Given the description of an element on the screen output the (x, y) to click on. 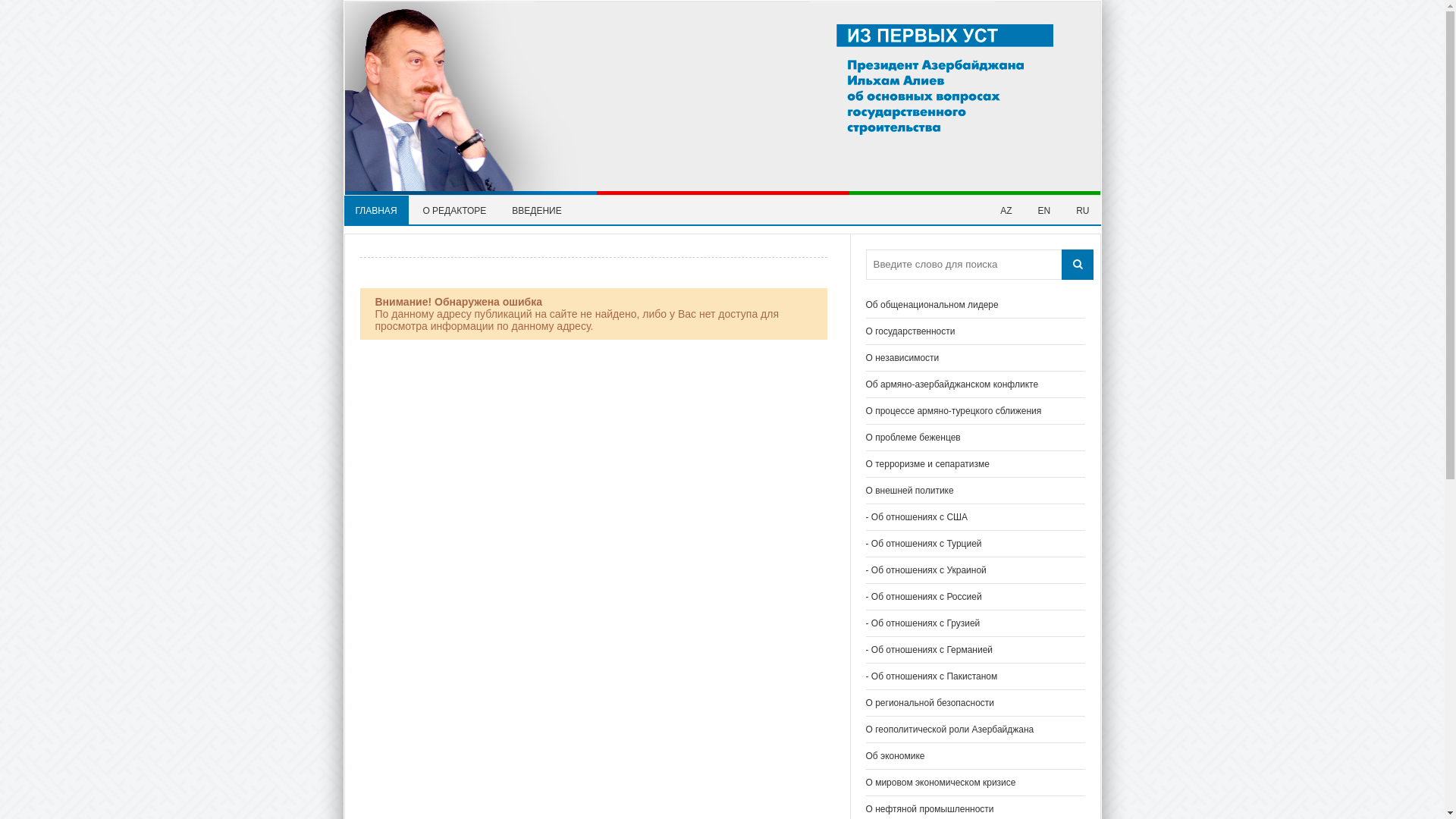
EN Element type: text (1044, 210)
AZ Element type: text (1005, 210)
RU Element type: text (1082, 210)
